Given the description of an element on the screen output the (x, y) to click on. 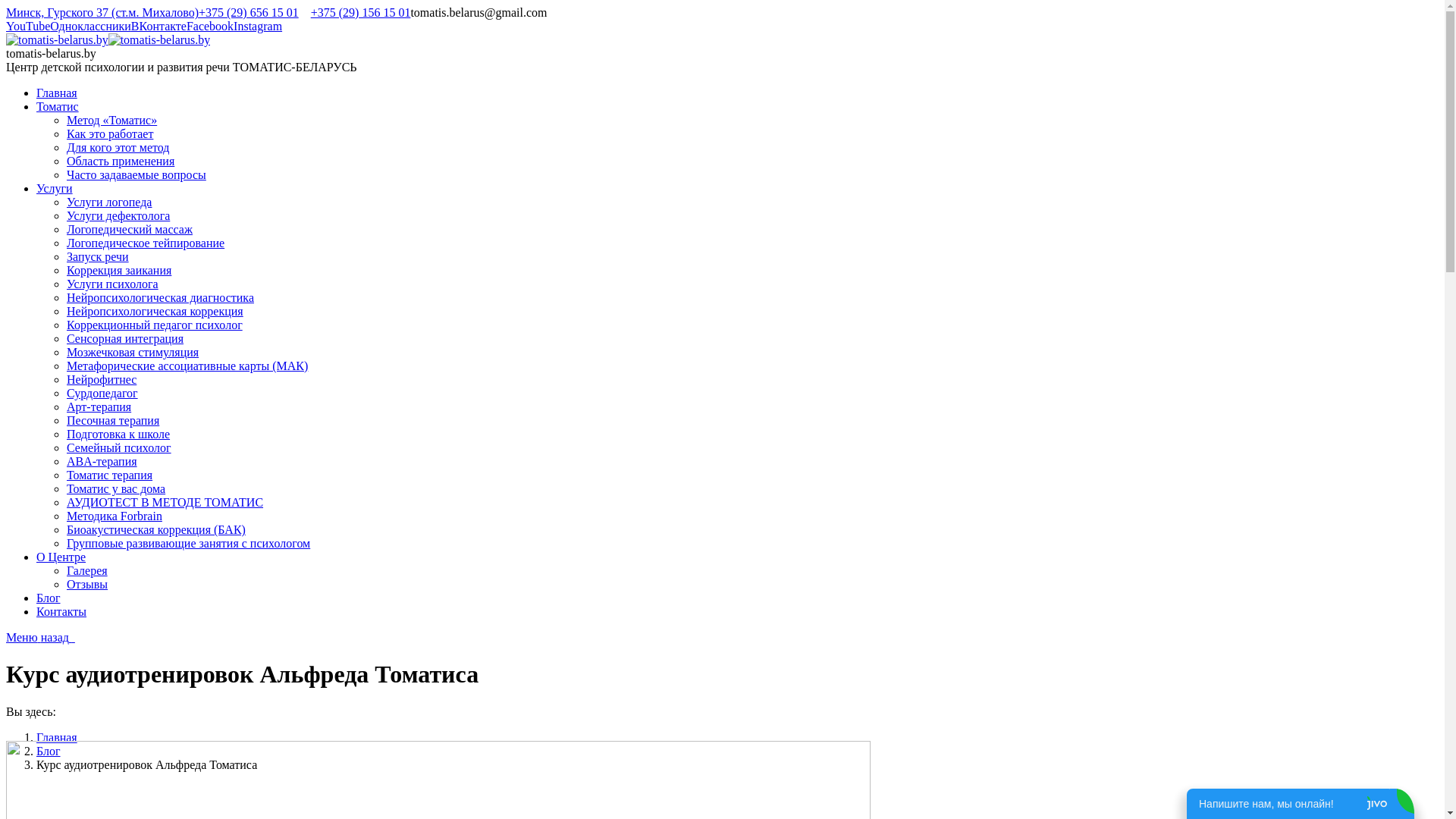
YouTube Element type: text (28, 25)
Instagram Element type: text (257, 25)
+375 (29) 656 15 01 Element type: text (248, 12)
+375 (29) 156 15 01 Element type: text (360, 12)
Facebook Element type: text (209, 25)
